Given the description of an element on the screen output the (x, y) to click on. 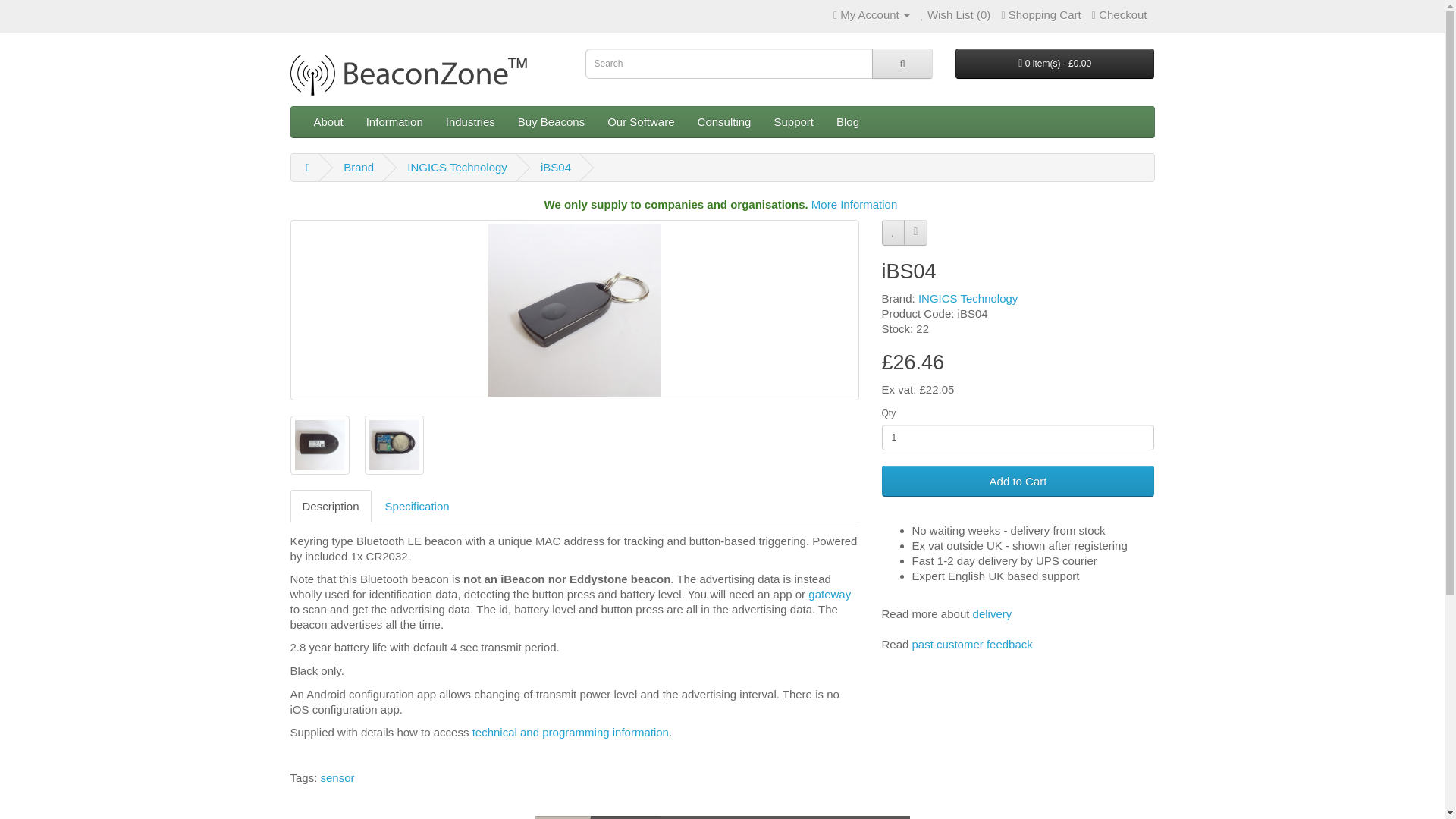
iBS04 (393, 445)
BeaconZone Ltd (425, 73)
Checkout (1119, 14)
Information (394, 122)
About (327, 122)
iBS04 (574, 309)
My Account (871, 14)
iBS04 (574, 310)
iBS04 (318, 445)
Shopping Cart (1040, 14)
1 (1017, 437)
Buy Beacons (550, 122)
iBS04 (393, 445)
Shopping Cart (1040, 14)
Industries (469, 122)
